Given the description of an element on the screen output the (x, y) to click on. 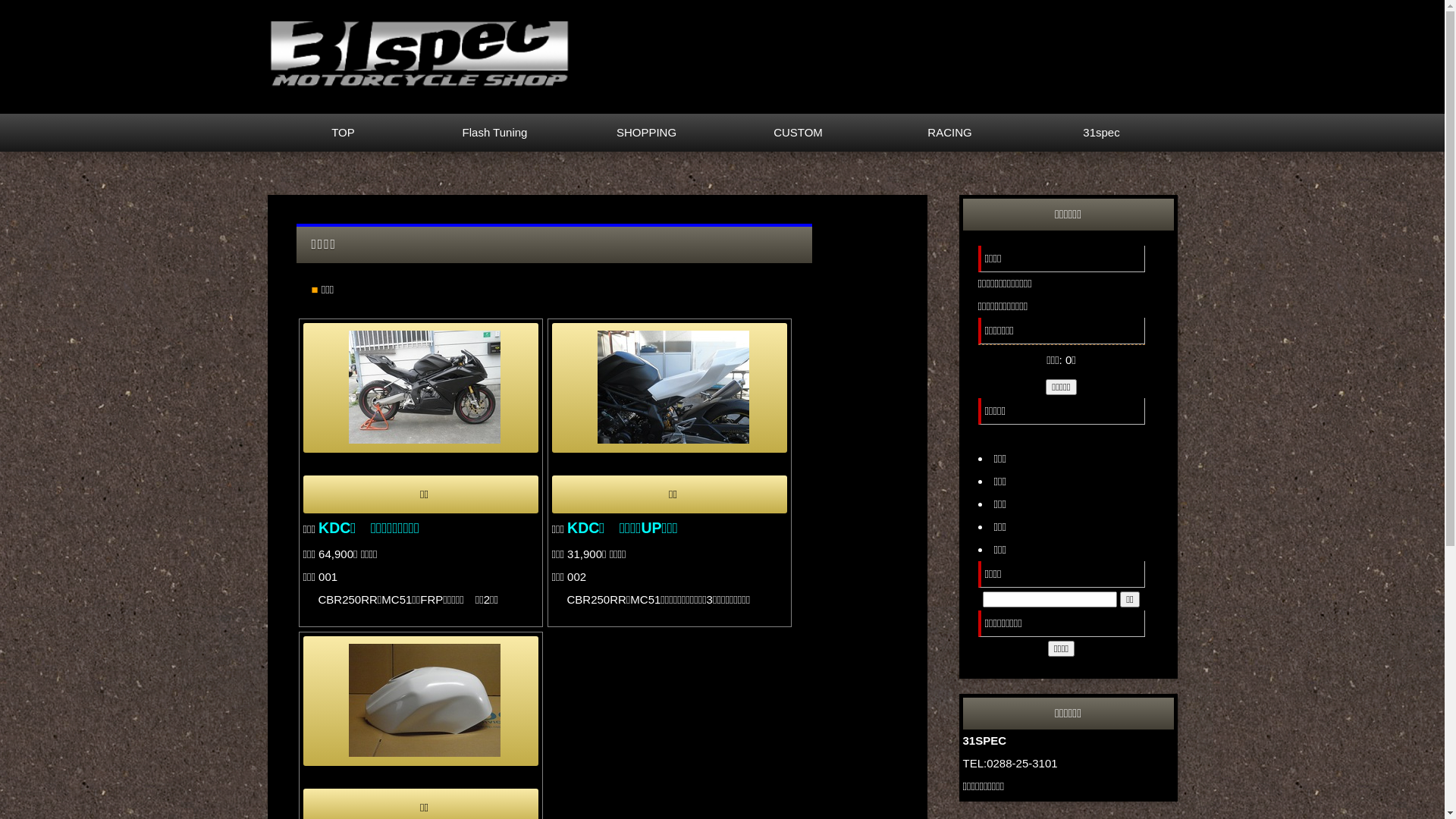
CUSTOM Element type: text (797, 132)
TOP Element type: text (342, 132)
RACING Element type: text (949, 132)
31spec Element type: text (1100, 132)
Flash Tuning Element type: text (494, 132)
SHOPPING Element type: text (645, 132)
